Given the description of an element on the screen output the (x, y) to click on. 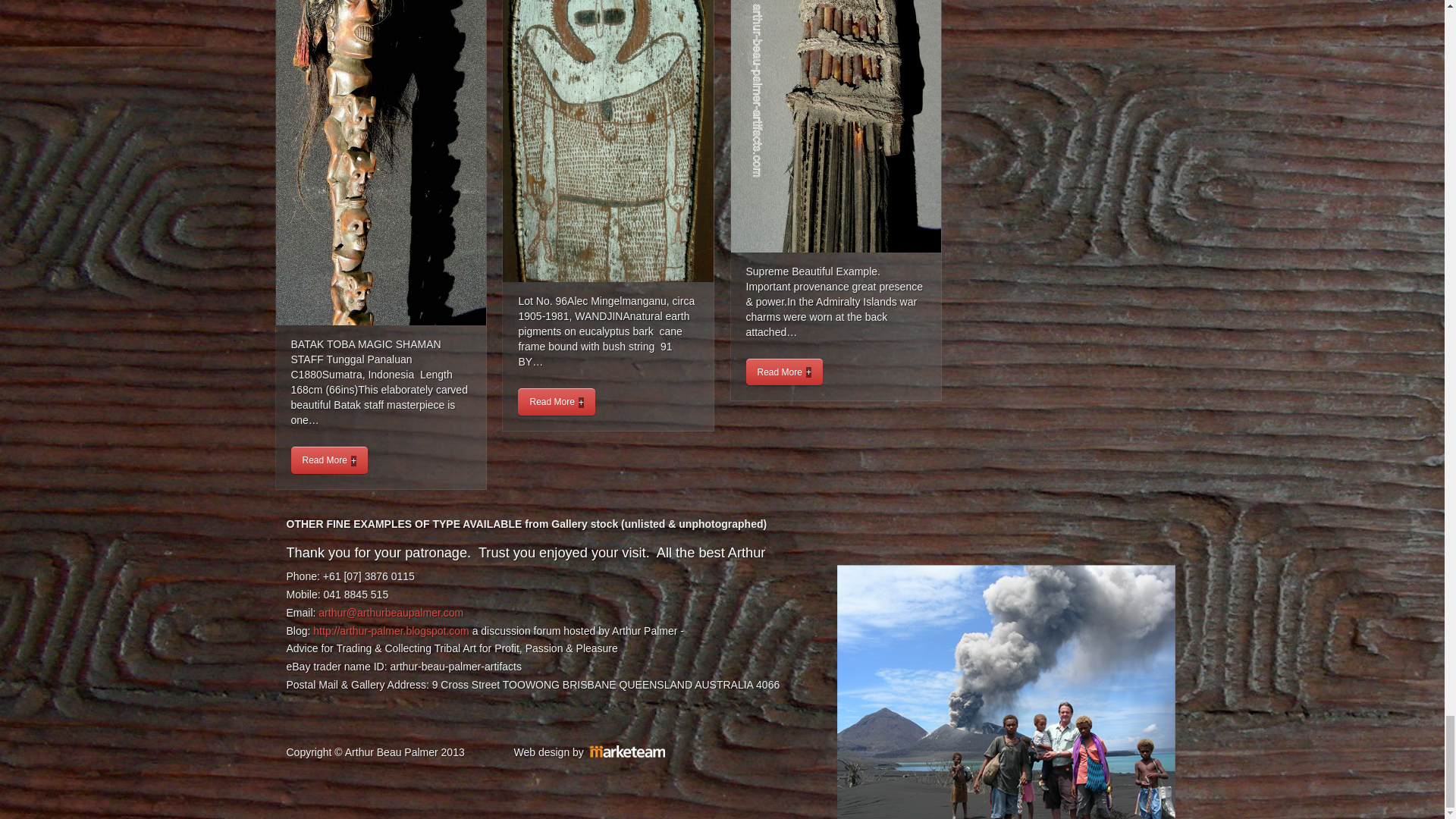
Web Design by Marketeam (627, 752)
